Given the description of an element on the screen output the (x, y) to click on. 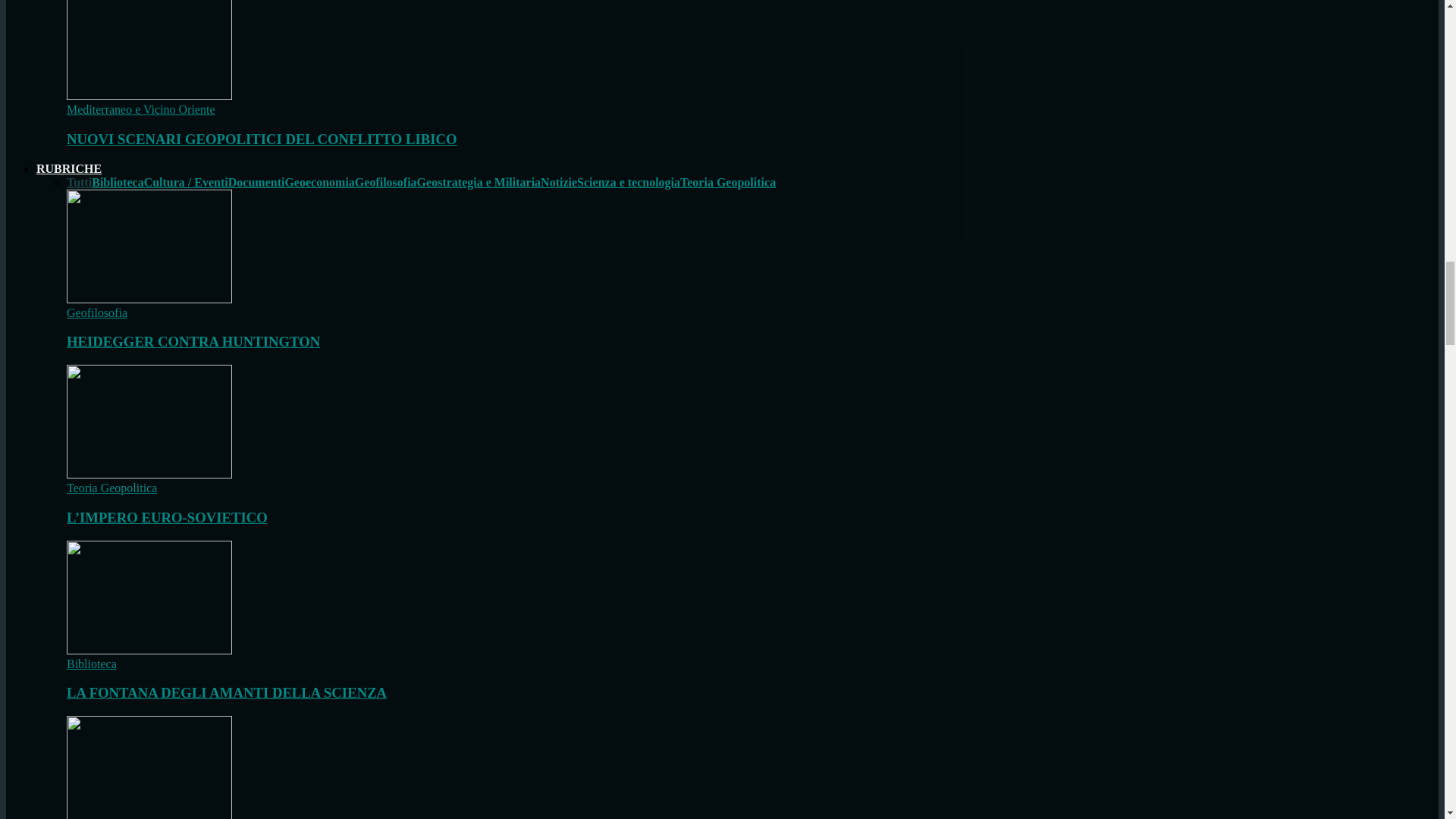
HEIDEGGER CONTRA HUNTINGTON (148, 298)
NUOVI SCENARI GEOPOLITICI DEL CONFLITTO LIBICO (148, 49)
NUOVI SCENARI GEOPOLITICI DEL CONFLITTO LIBICO (261, 139)
HEIDEGGER CONTRA HUNTINGTON (148, 246)
HEIDEGGER CONTRA HUNTINGTON (193, 341)
NUOVI SCENARI GEOPOLITICI DEL CONFLITTO LIBICO (148, 95)
